Given the description of an element on the screen output the (x, y) to click on. 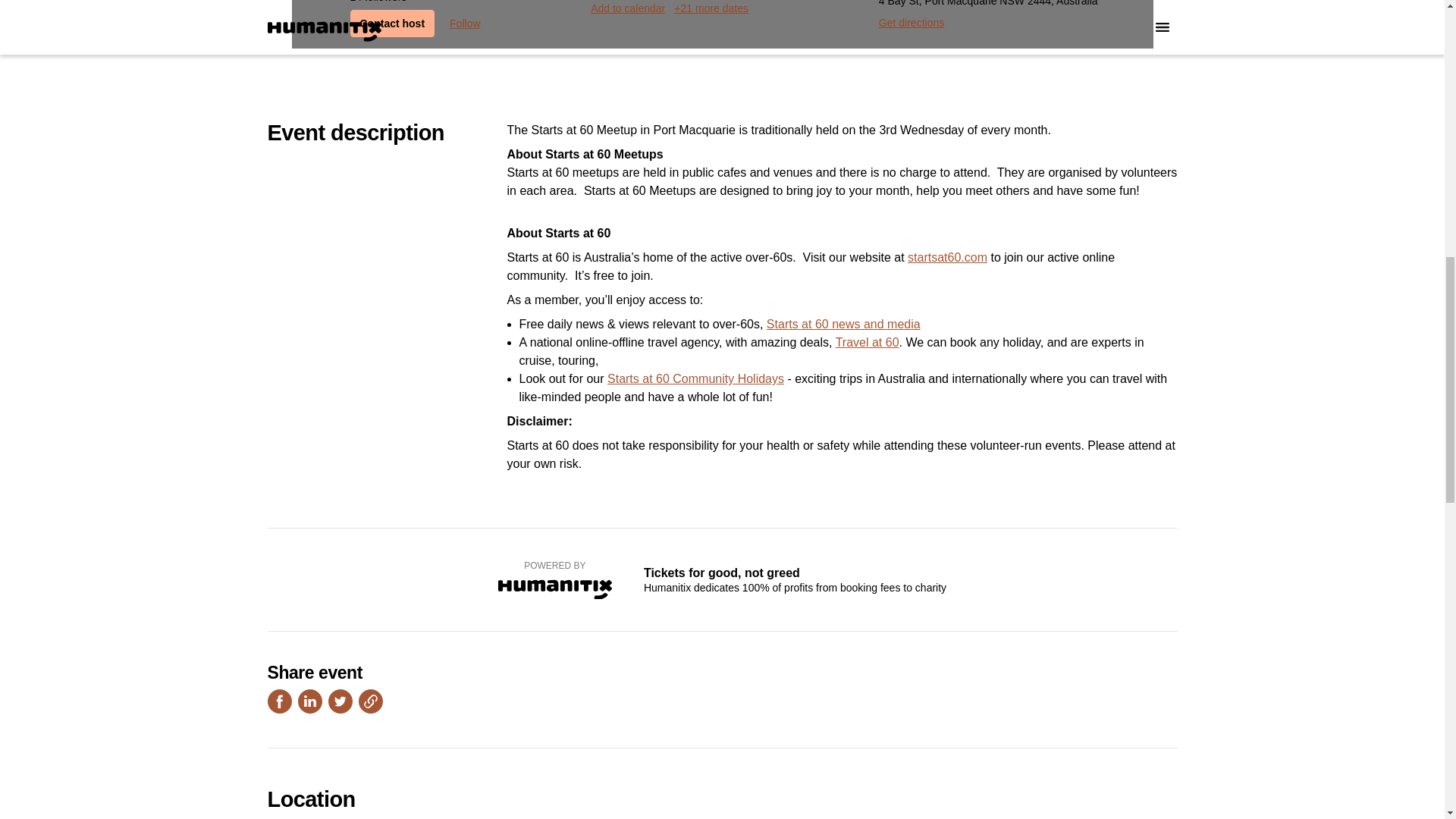
Follow (465, 22)
